Given the description of an element on the screen output the (x, y) to click on. 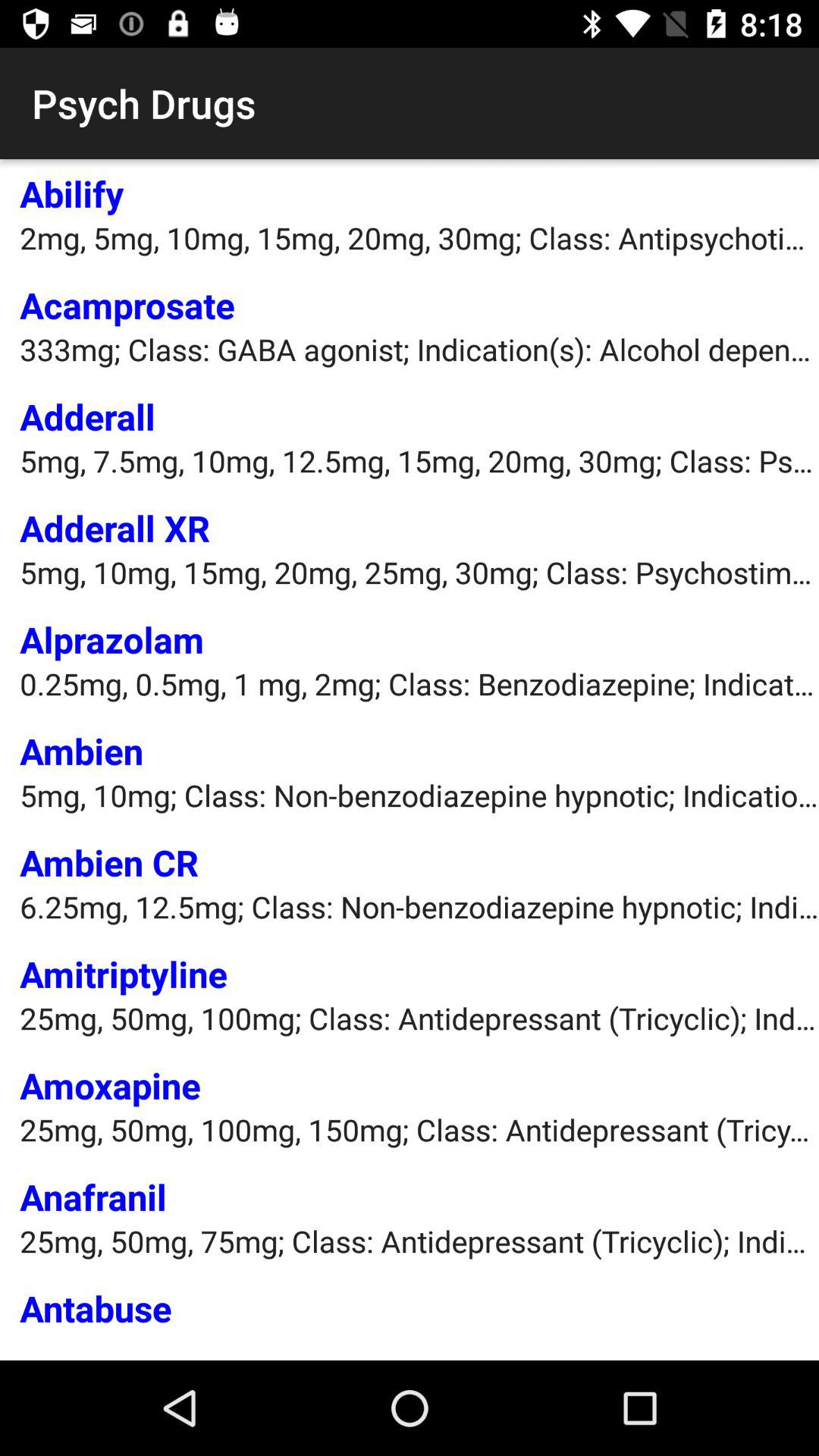
jump until the anafranil item (92, 1196)
